Given the description of an element on the screen output the (x, y) to click on. 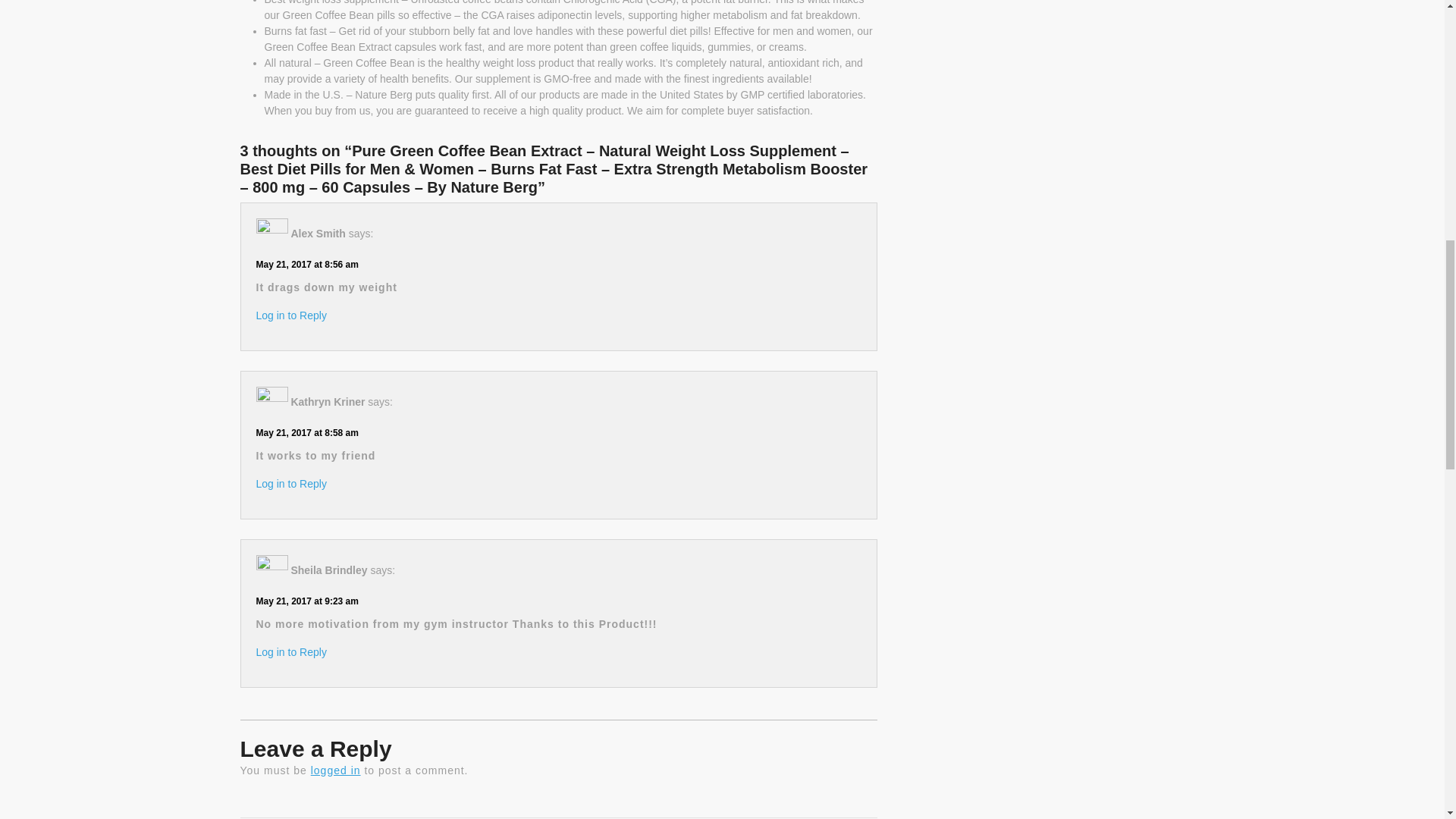
logged in (336, 770)
May 21, 2017 at 8:58 am (398, 804)
Log in to Reply (307, 431)
Log in to Reply (291, 315)
May 21, 2017 at 8:56 am (716, 804)
May 21, 2017 at 9:23 am (291, 483)
Log in to Reply (307, 263)
